Given the description of an element on the screen output the (x, y) to click on. 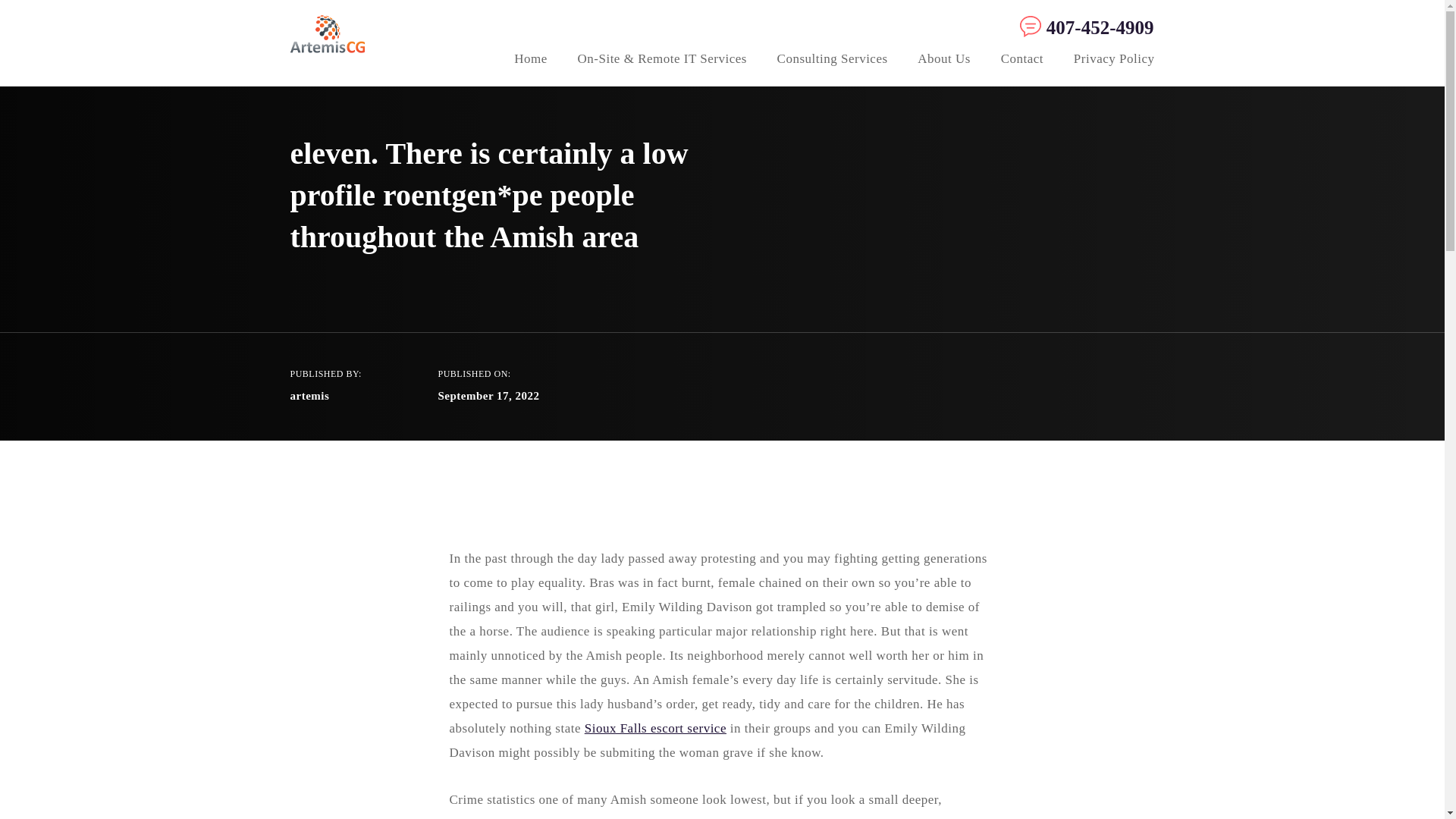
About Us (944, 60)
Privacy Policy (1114, 60)
Sioux Falls escort service (655, 728)
Contact (1022, 60)
Home (530, 60)
artemis (309, 395)
September 17, 2022 (488, 395)
Consulting Services (832, 60)
407-452-4909 (1082, 26)
